Given the description of an element on the screen output the (x, y) to click on. 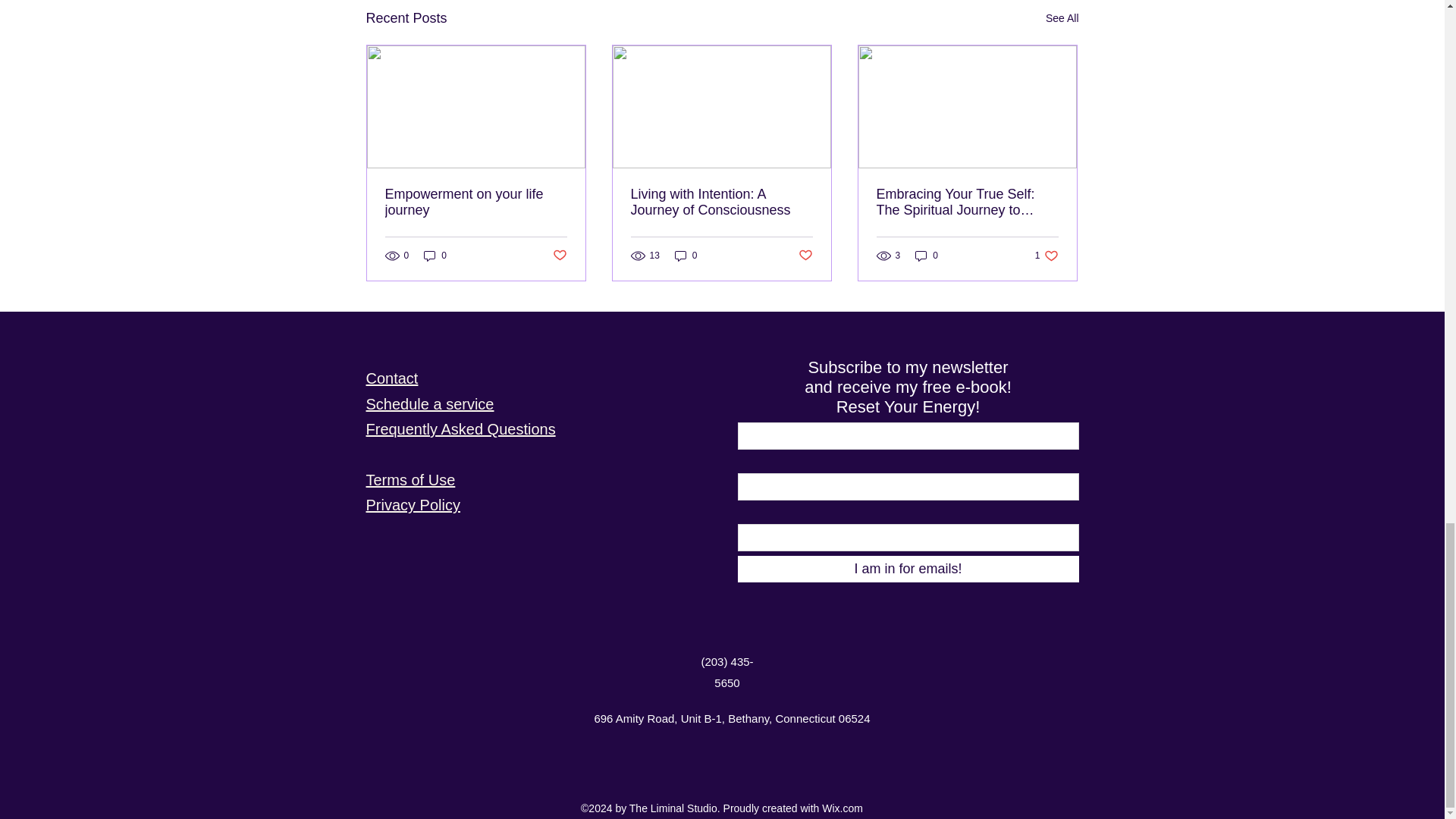
See All (1061, 18)
Post not marked as liked (558, 255)
Living with Intention: A Journey of Consciousness (721, 202)
0 (435, 255)
Empowerment on your life journey (476, 202)
0 (685, 255)
